Given the description of an element on the screen output the (x, y) to click on. 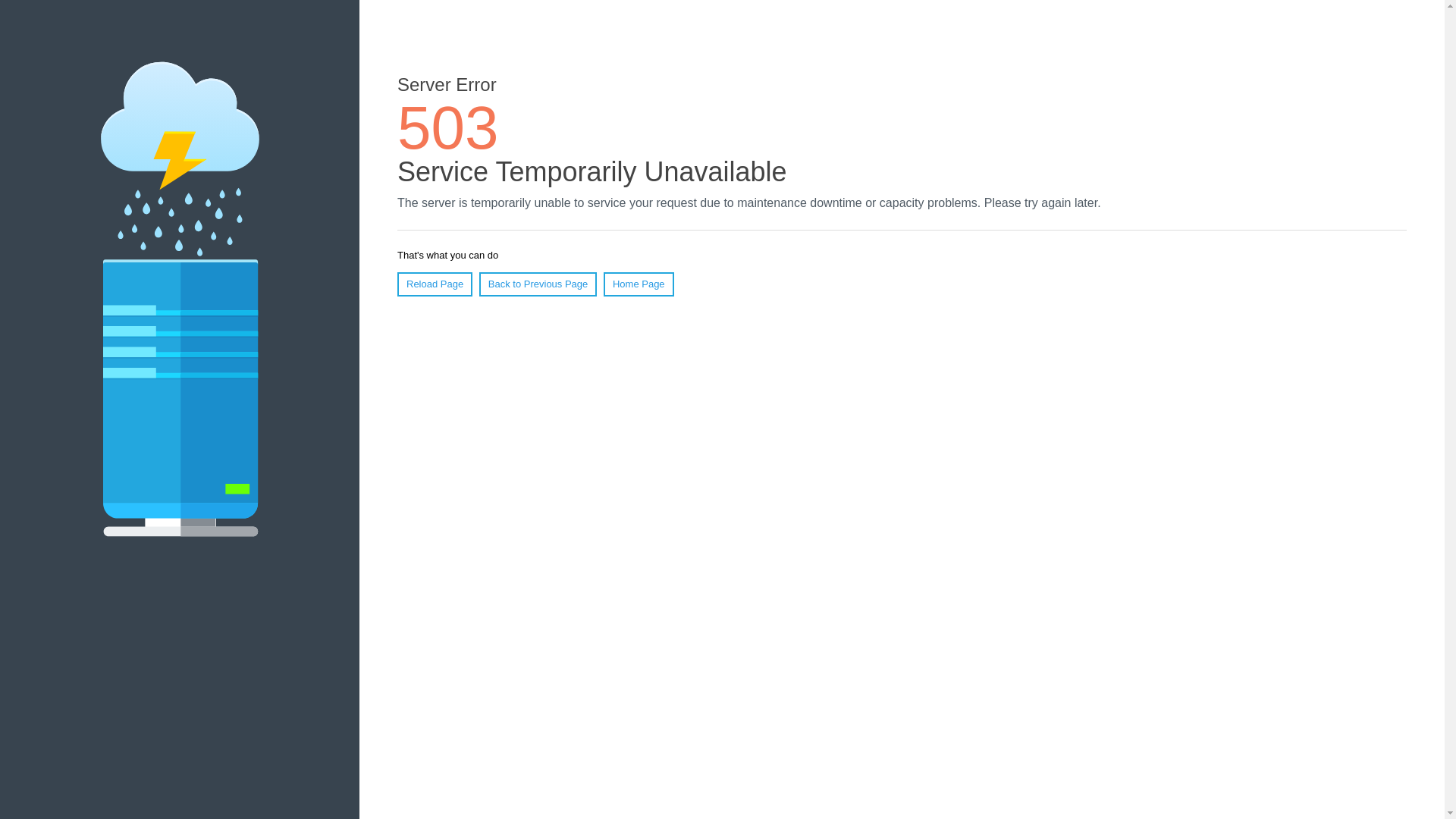
Home Page Element type: text (638, 284)
Back to Previous Page Element type: text (538, 284)
Reload Page Element type: text (434, 284)
